Given the description of an element on the screen output the (x, y) to click on. 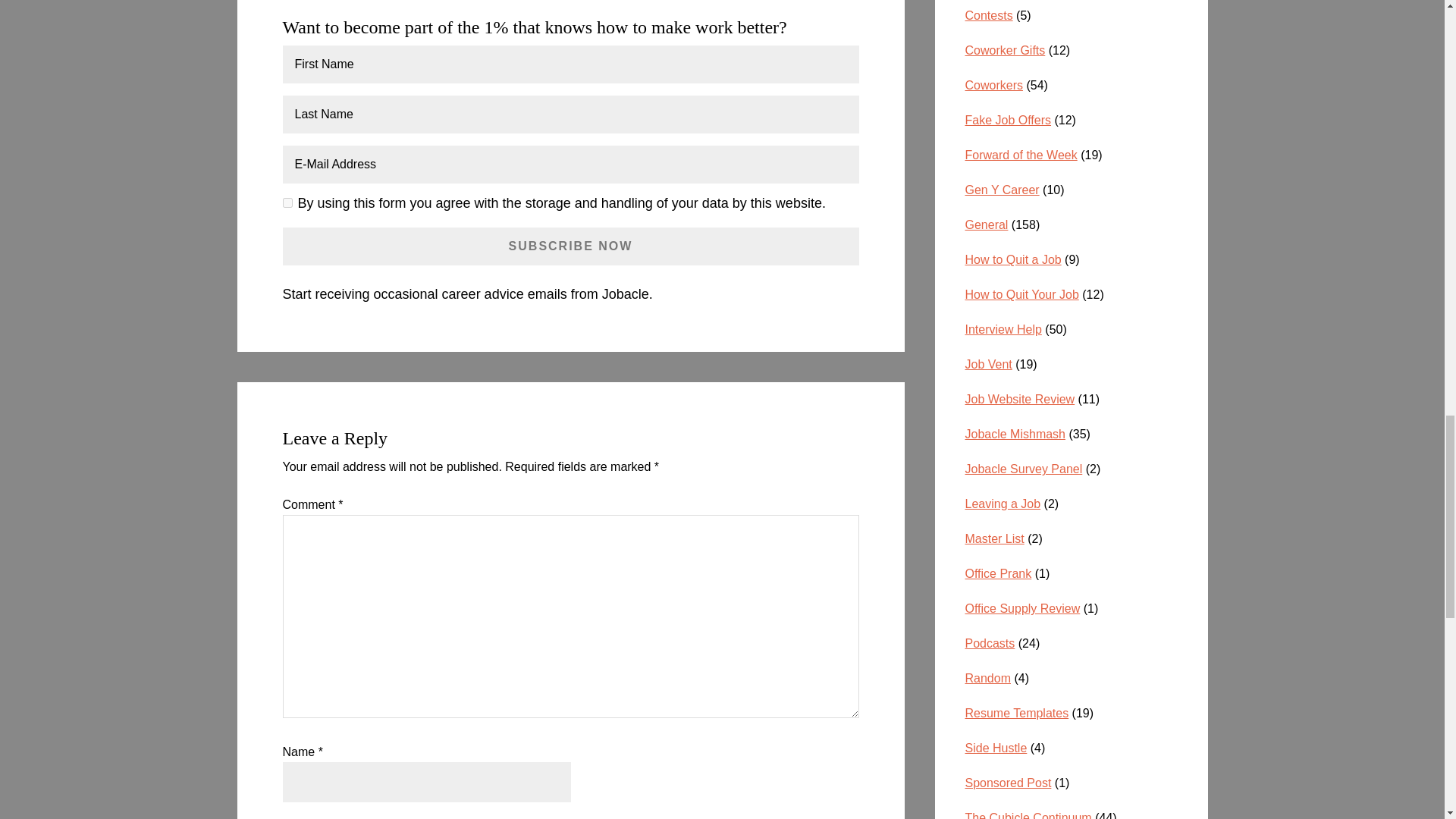
SUBSCRIBE NOW (570, 246)
checked (287, 203)
SUBSCRIBE NOW (570, 246)
